Given the description of an element on the screen output the (x, y) to click on. 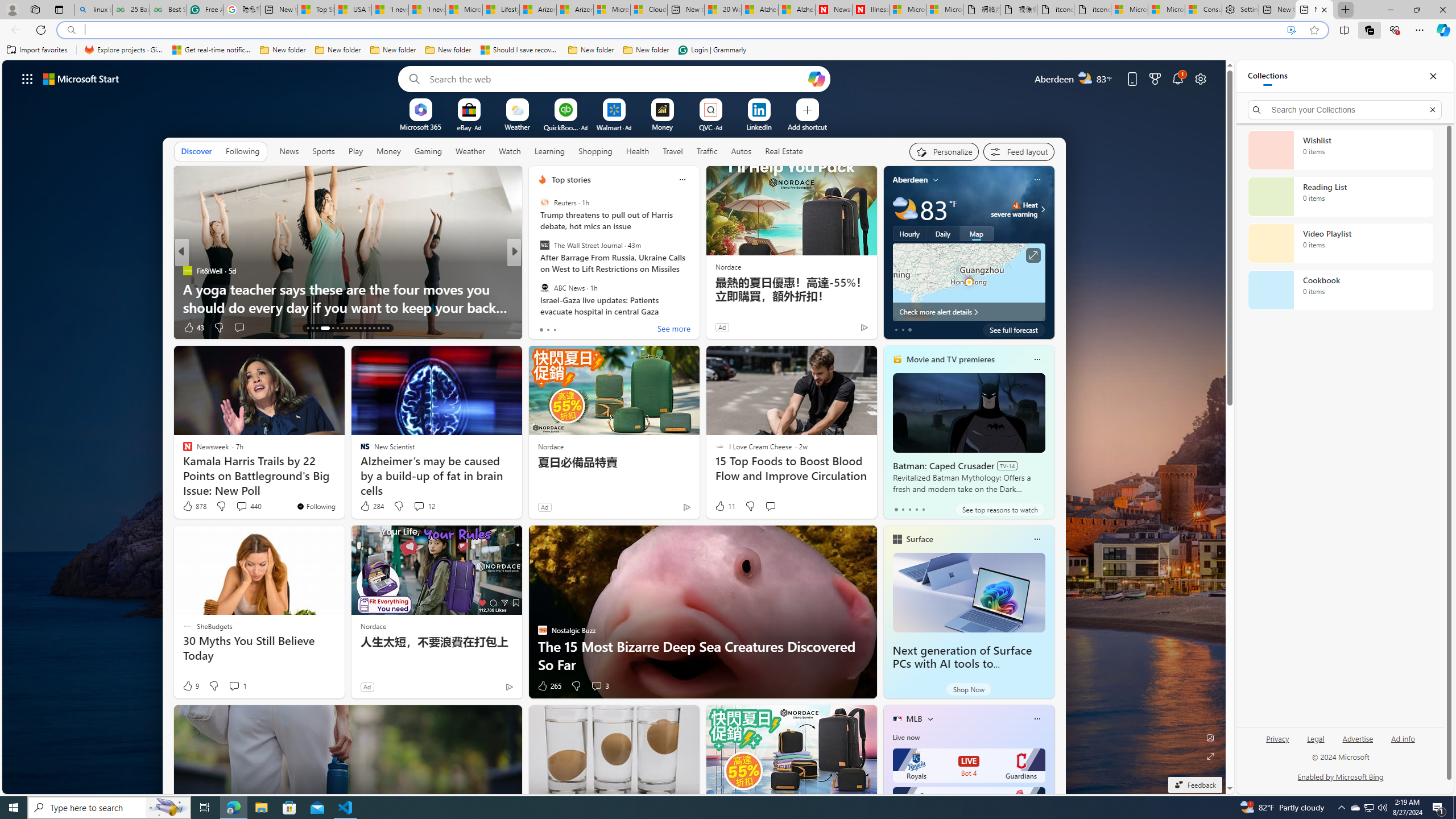
Larger map  (968, 282)
AutomationID: tab-21 (350, 328)
Autos (740, 151)
View comments 2 Comment (589, 327)
Cloud Computing Services | Microsoft Azure (649, 9)
Money (387, 151)
Play (355, 151)
itconcepthk.com/projector_solutions.mp4 (1091, 9)
AutomationID: tab-14 (312, 328)
1k Like (543, 327)
